Given the description of an element on the screen output the (x, y) to click on. 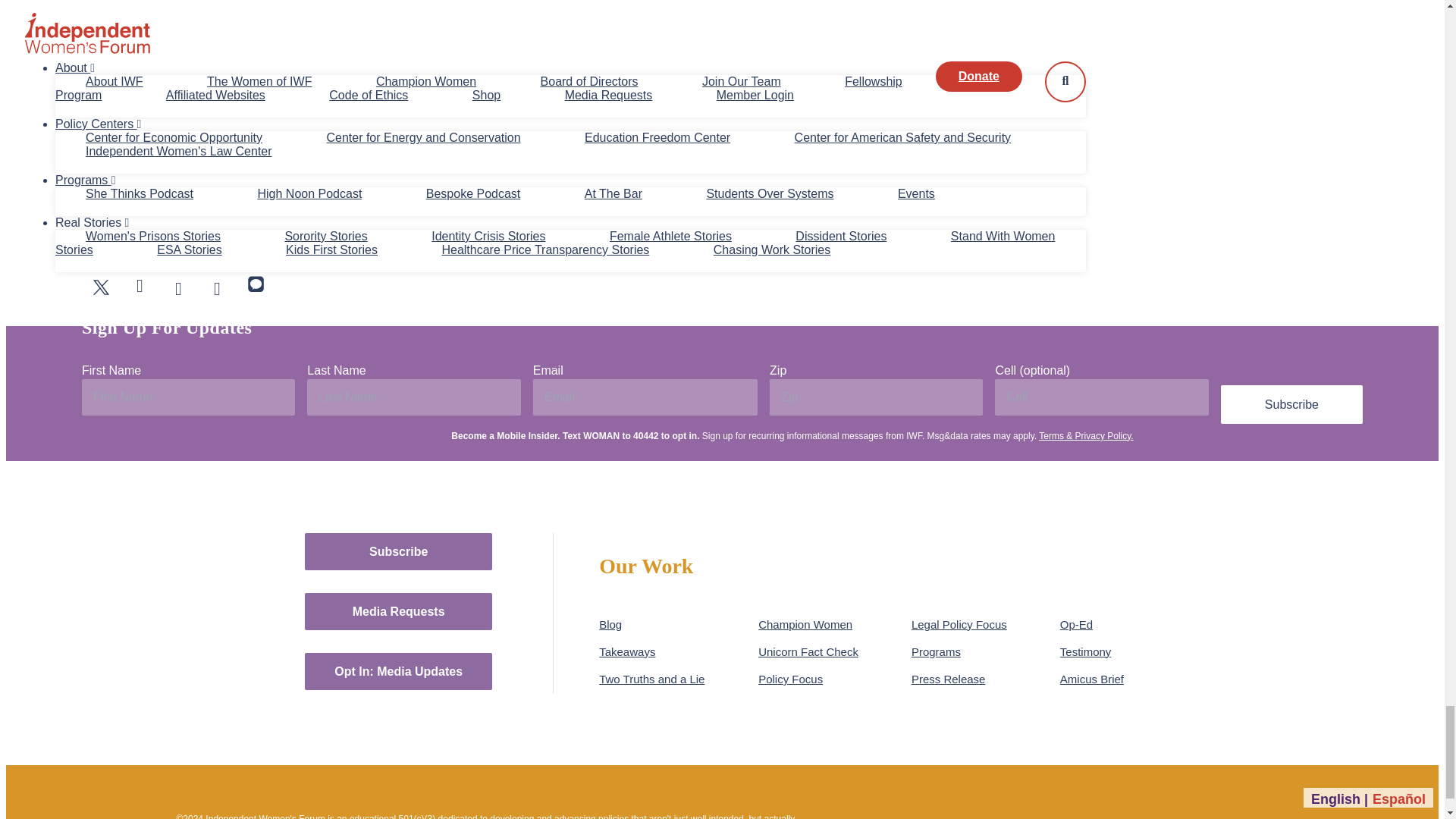
Subscribe (1291, 404)
